Given the description of an element on the screen output the (x, y) to click on. 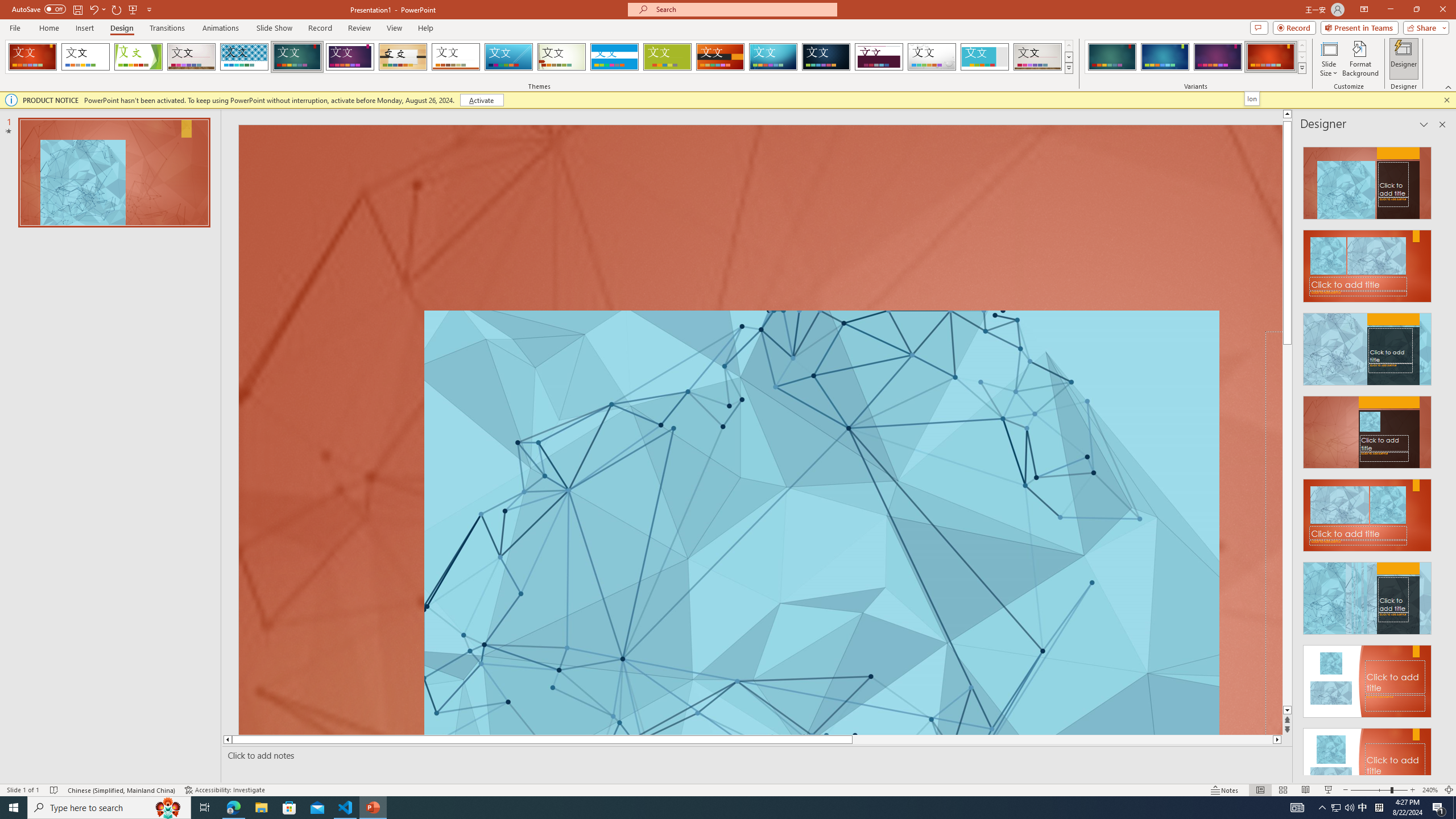
Wisp (561, 56)
An abstract genetic concept (760, 429)
Slice (508, 56)
Close this message (1446, 99)
